Given the description of an element on the screen output the (x, y) to click on. 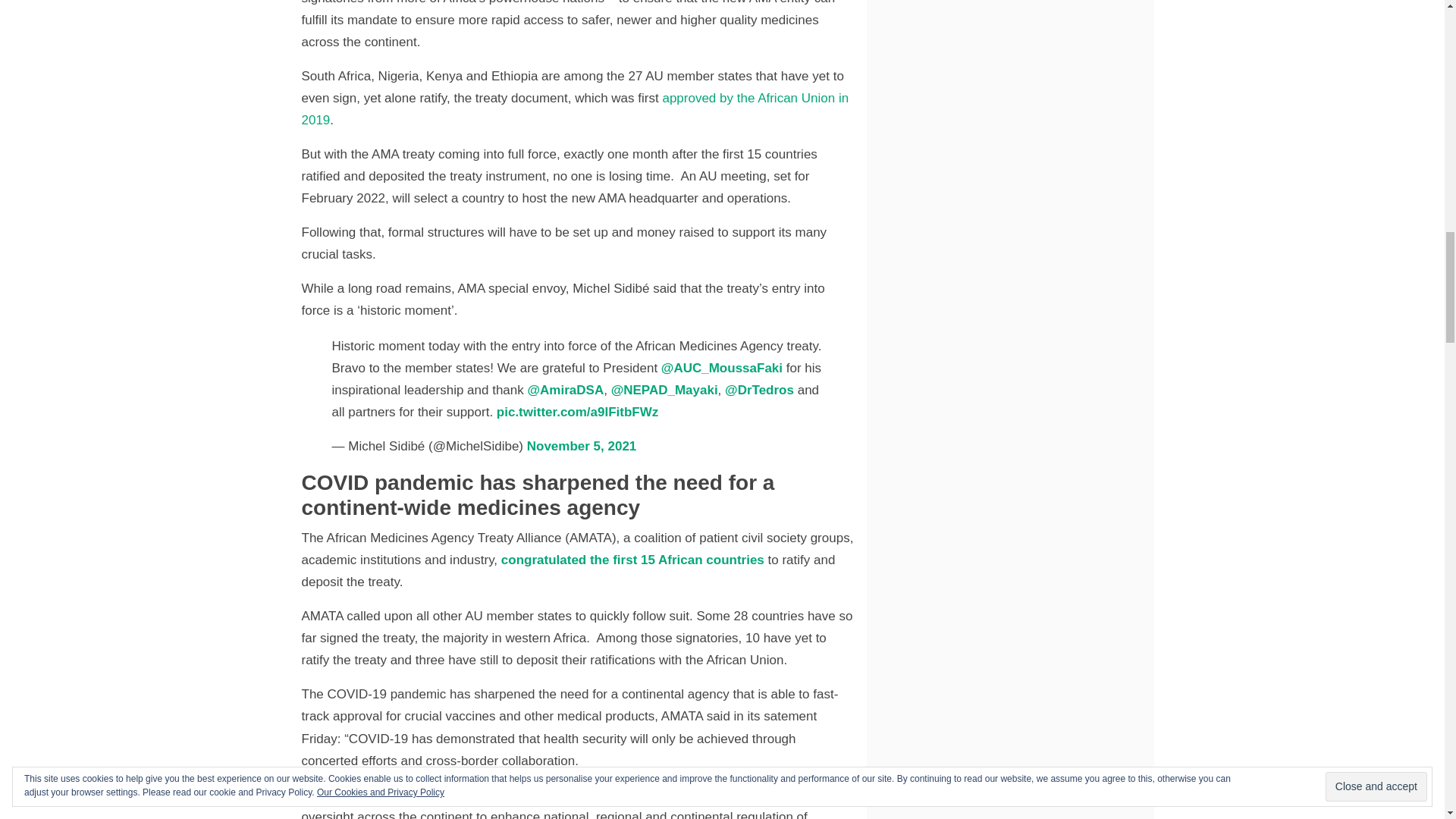
approved by the African Union in 2019 (574, 108)
November 5, 2021 (582, 445)
congratulated the first 15 African countries (632, 559)
